Given the description of an element on the screen output the (x, y) to click on. 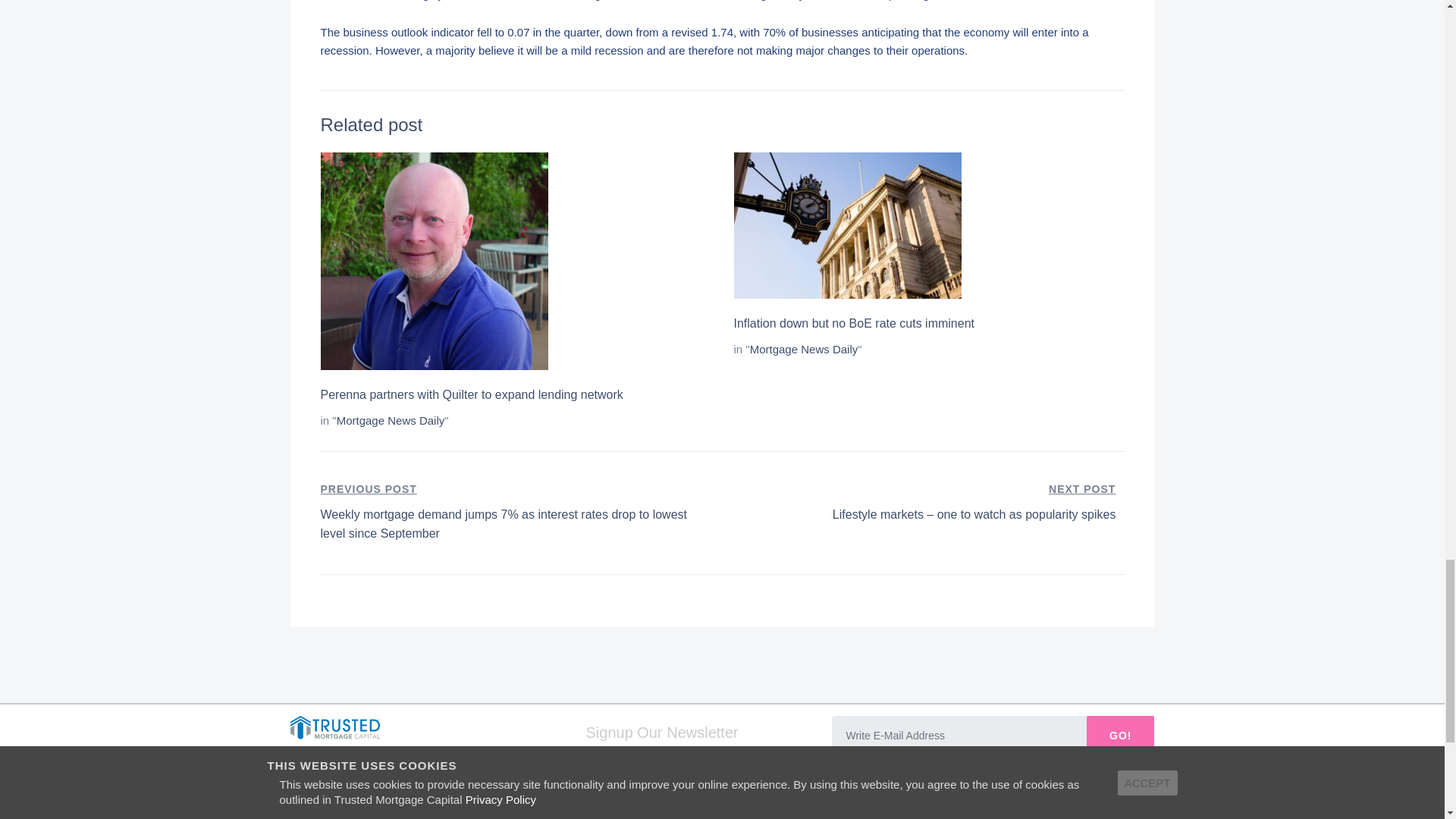
Inflation down but no BoE rate cuts imminent (854, 323)
Mortgage News Daily (804, 349)
REFINANCE (710, 813)
PURCHASE (629, 813)
ABOUT (777, 813)
Mortgage News Daily (390, 420)
Perenna partners with Quilter to expand lending network (471, 394)
GO! (1120, 735)
TOOLS (829, 813)
